Given the description of an element on the screen output the (x, y) to click on. 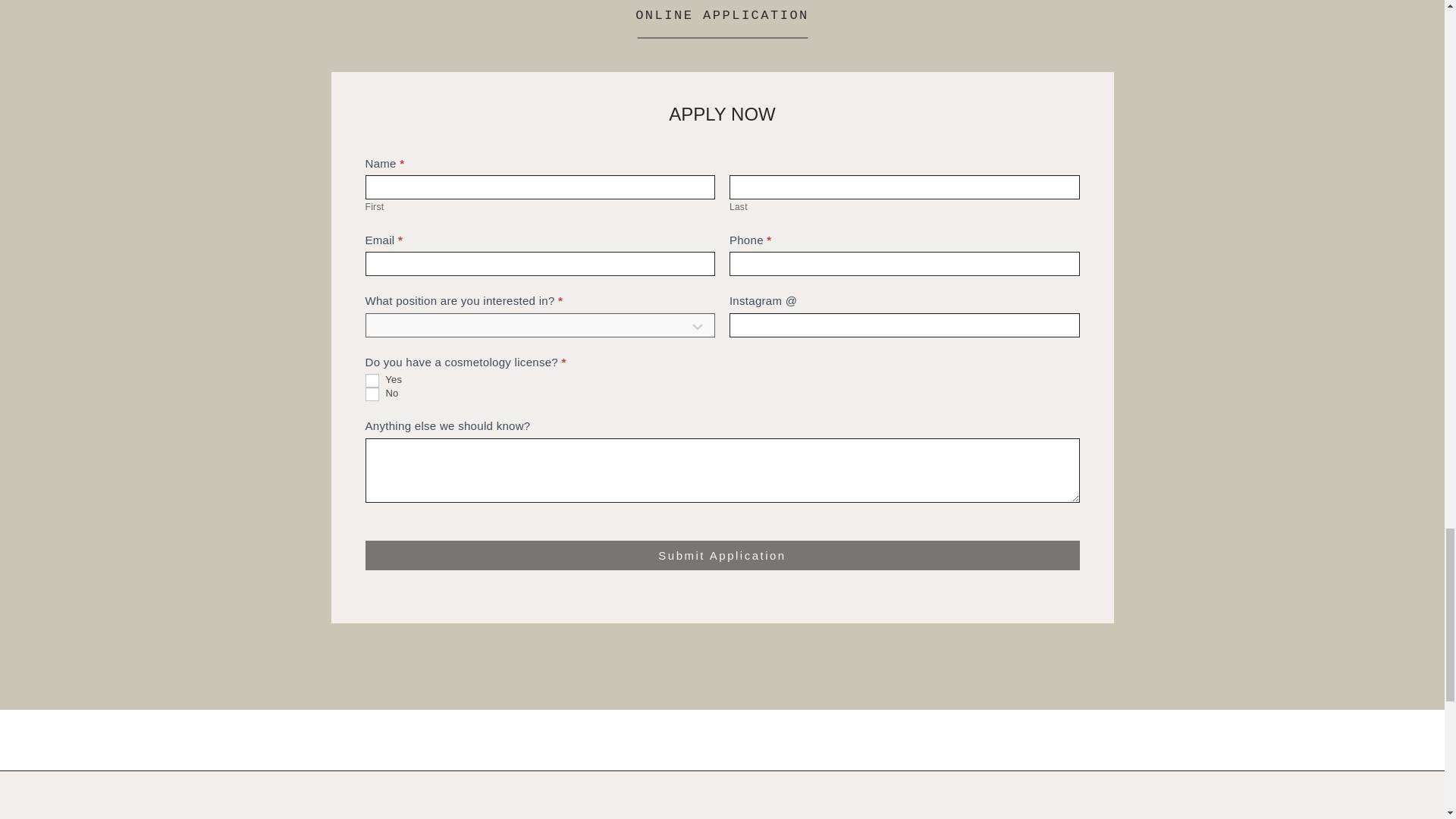
Submit Application (722, 555)
No (371, 394)
Yes (371, 380)
